Given the description of an element on the screen output the (x, y) to click on. 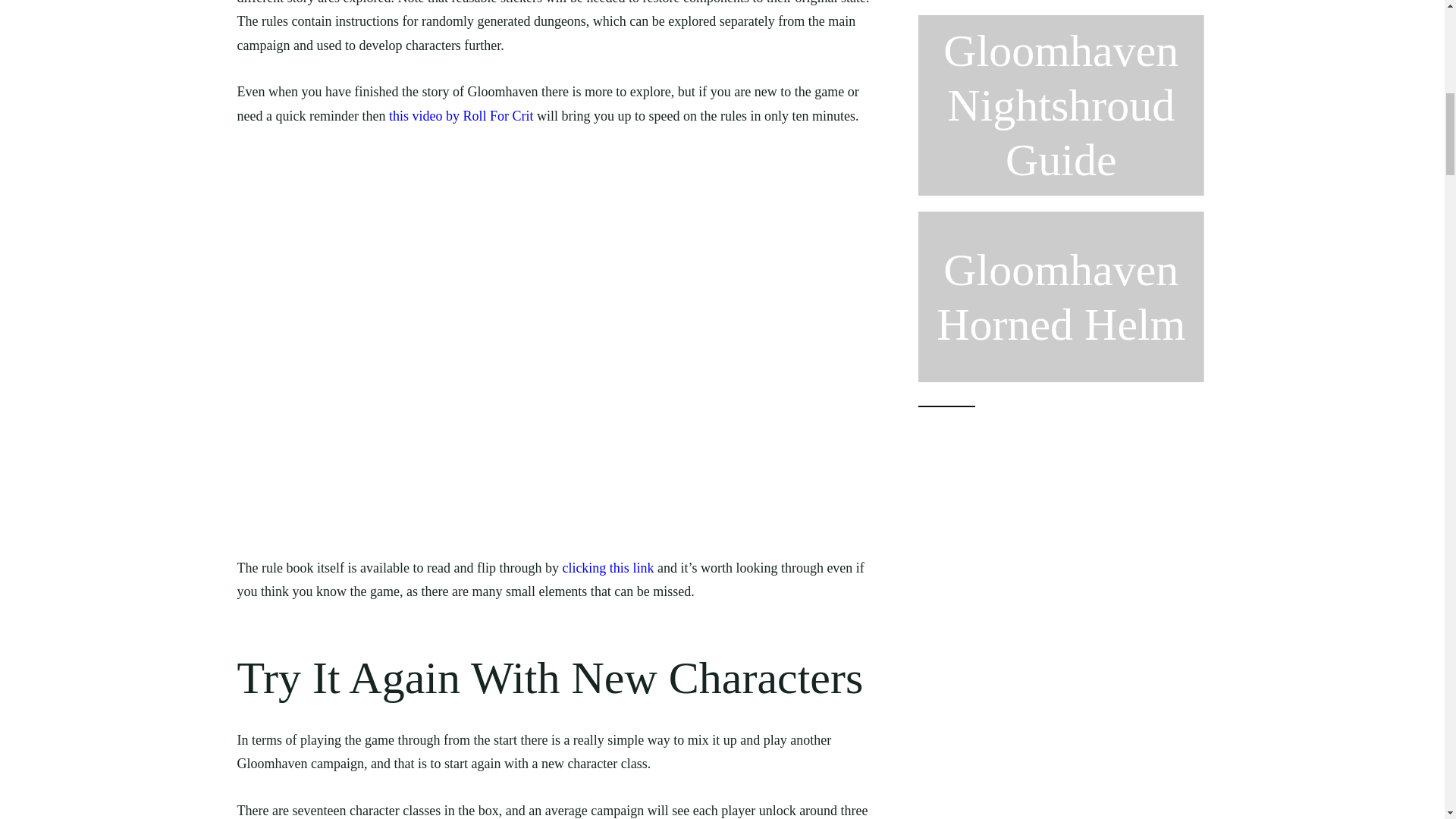
Gloomhaven Horned Helm (1060, 296)
this video by Roll For Crit (461, 115)
clicking this link (607, 567)
Gloomhaven Nightshroud Guide (1060, 105)
